Given the description of an element on the screen output the (x, y) to click on. 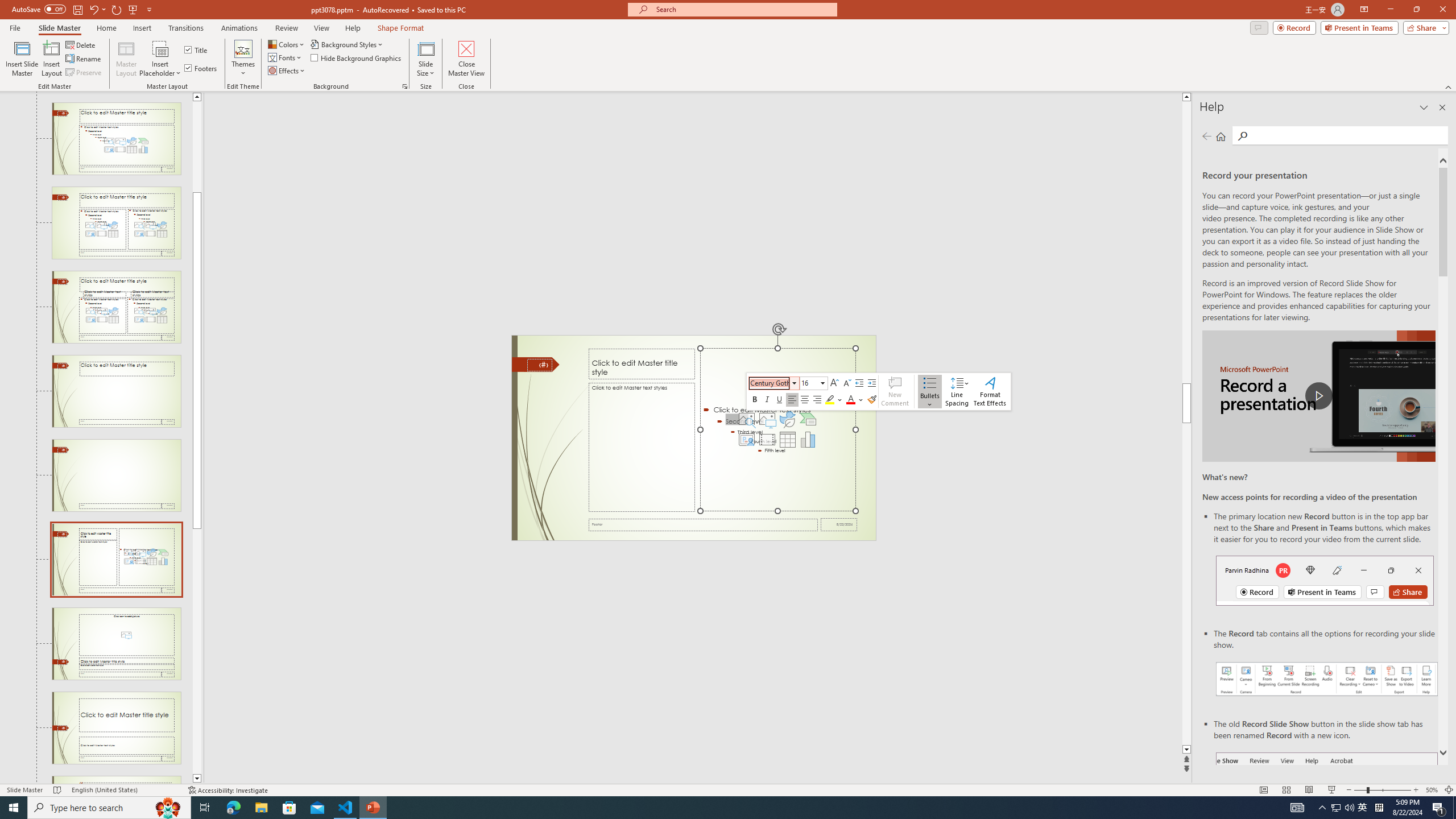
Effects (287, 69)
Insert Cameo (746, 439)
Slide Master (59, 28)
Previous page (1206, 136)
Insert Table (787, 439)
Slide Title Only Layout: used by no slides (116, 391)
play Record a Presentation (1318, 395)
